Given the description of an element on the screen output the (x, y) to click on. 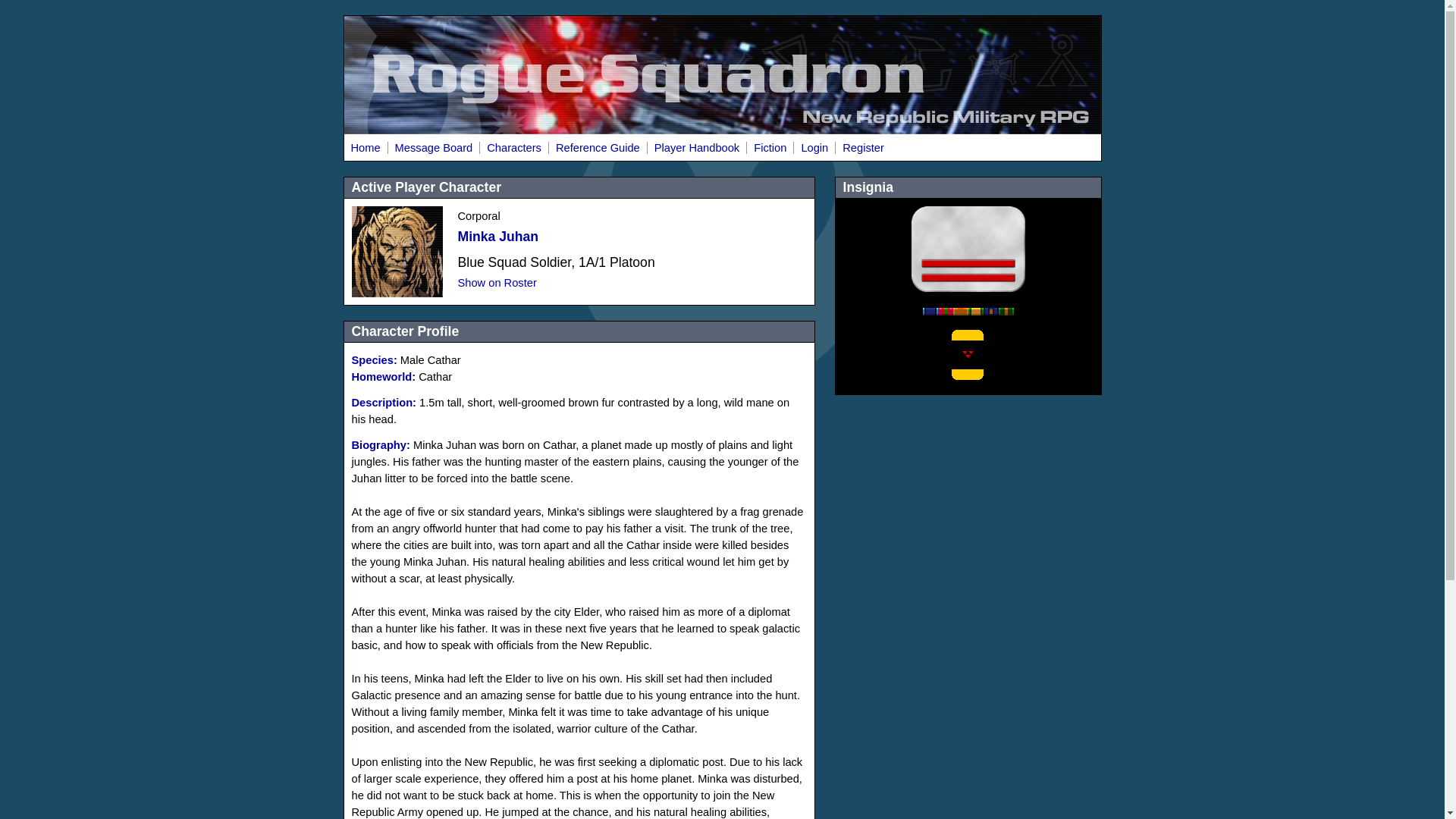
6 Commendations (1005, 311)
Corporal (968, 248)
Home (365, 146)
6 Commendations (989, 311)
Login (813, 146)
Register (862, 146)
6 Commendations (975, 311)
Fiction (769, 146)
6 Commendations (960, 311)
Message Board (433, 146)
6 Commendations (944, 311)
Player Handbook (695, 146)
6 Commendations (929, 311)
Characters (513, 146)
Show on Roster (497, 282)
